Given the description of an element on the screen output the (x, y) to click on. 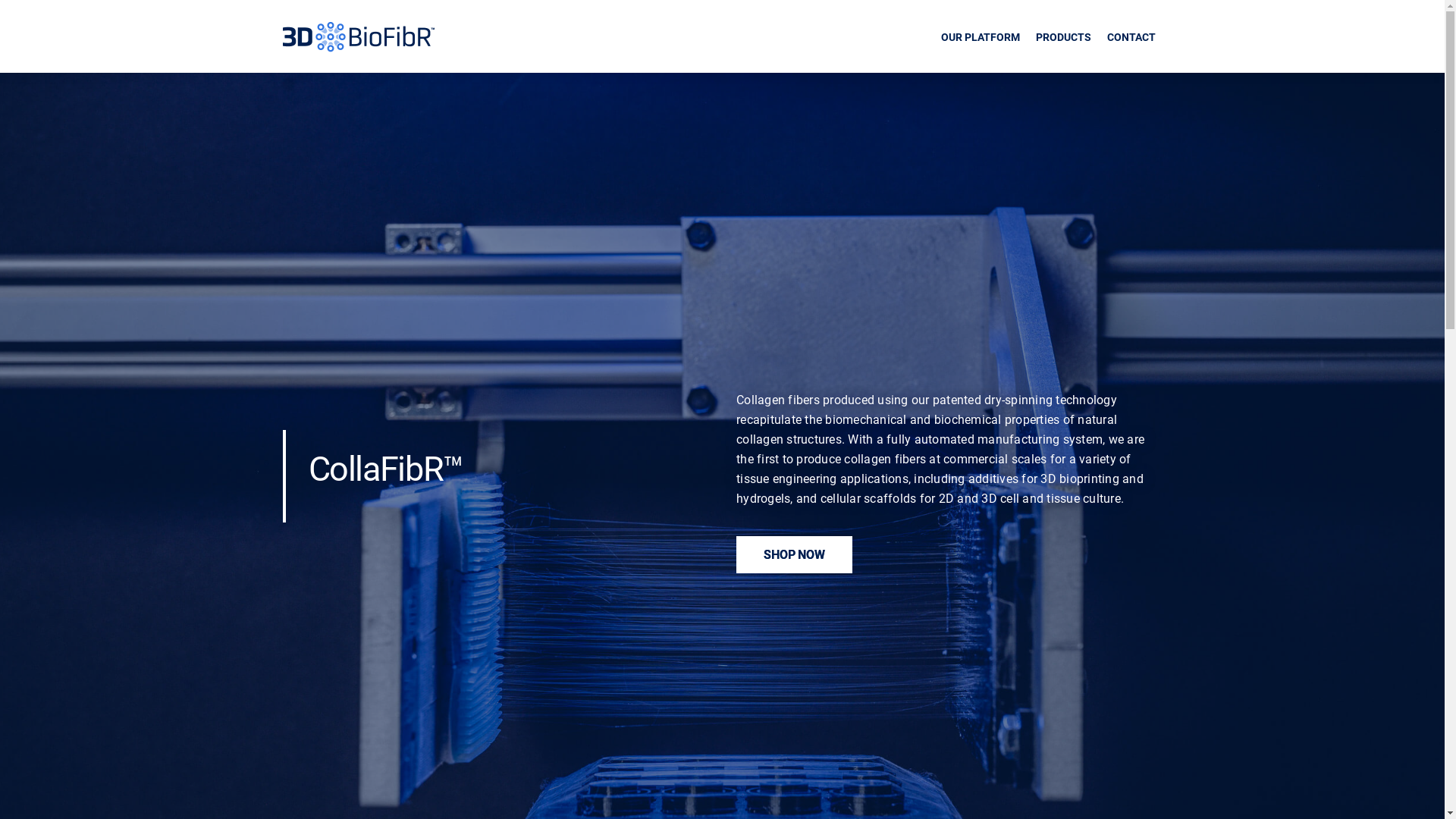
3DbioFibR_Logo_400 Element type: hover (357, 36)
CONTACT Element type: text (1131, 32)
SHOP NOW Element type: text (793, 554)
3D BioFibR Element type: hover (357, 46)
OUR PLATFORM Element type: text (980, 32)
PRODUCTS Element type: text (1063, 32)
